Given the description of an element on the screen output the (x, y) to click on. 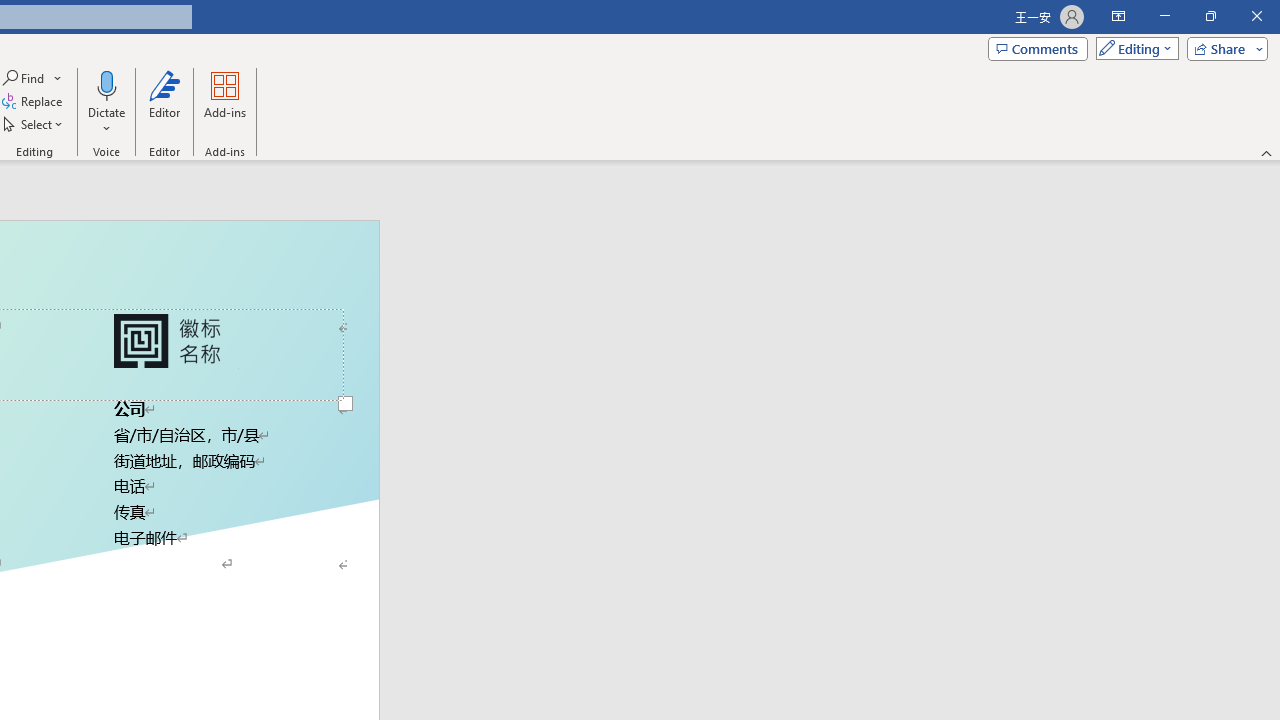
Editor (164, 102)
Mode (1133, 47)
